Given the description of an element on the screen output the (x, y) to click on. 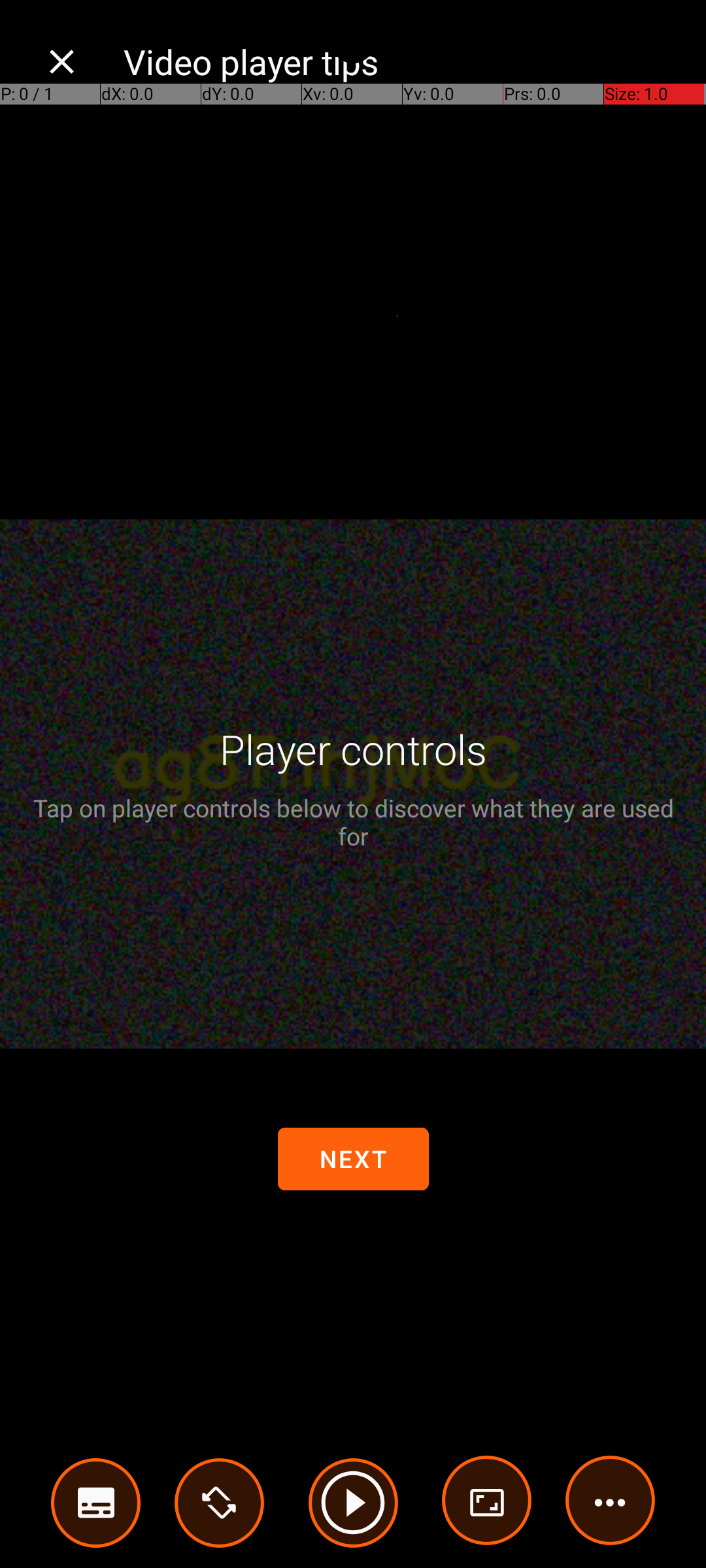
Video player. Tap to show controls. Tap the back button to hide them Element type: android.widget.FrameLayout (353, 784)
Video player tips Element type: android.widget.TextView (400, 61)
Player controls Element type: android.widget.TextView (353, 748)
Tap on player controls below to discover what they are used for Element type: android.widget.TextView (352, 821)
NEXT Element type: android.widget.Button (352, 1158)
Play Element type: android.widget.ImageView (352, 1502)
advanced options Element type: android.widget.ImageView (486, 1502)
